Given the description of an element on the screen output the (x, y) to click on. 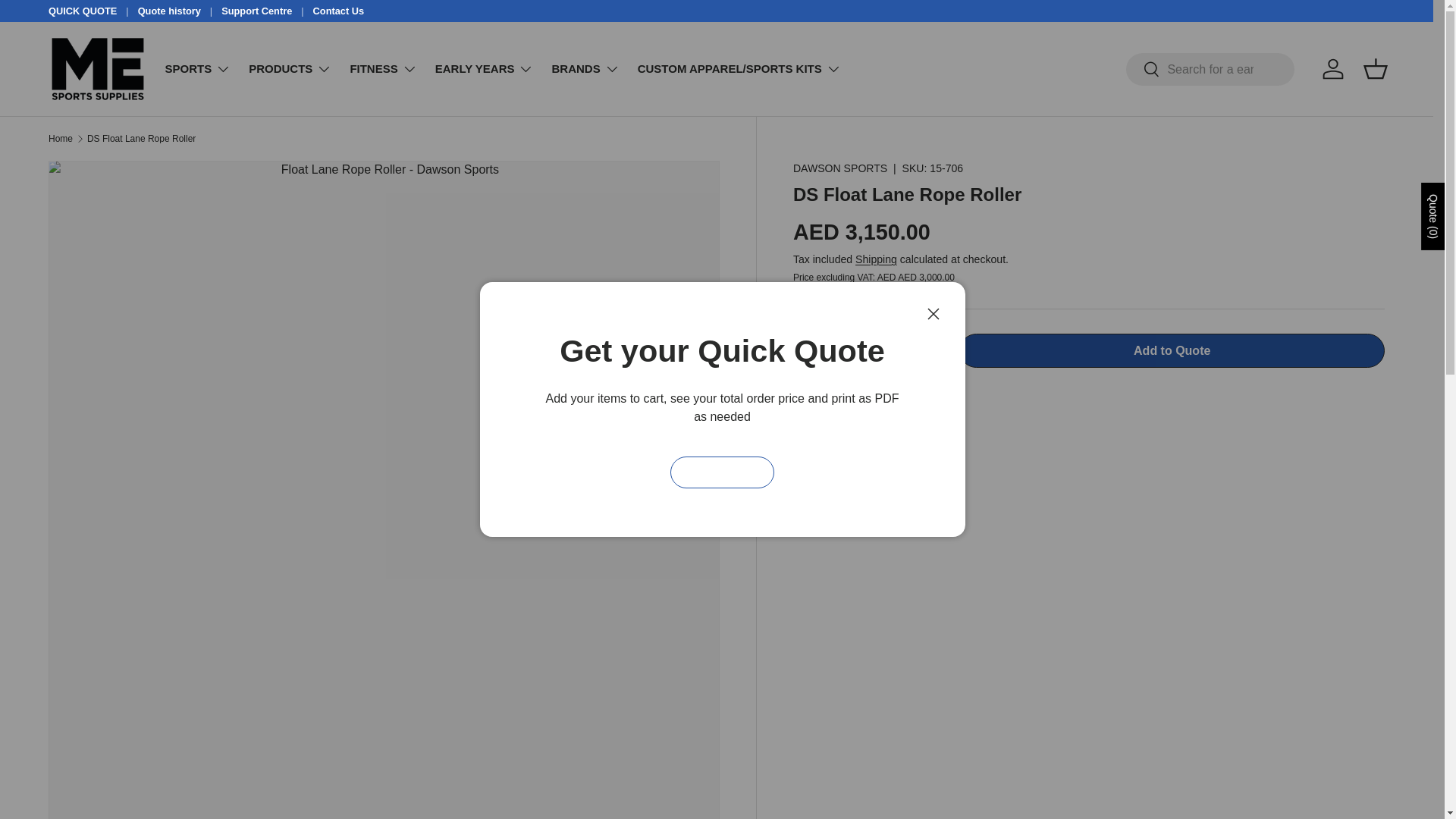
Contact Us (339, 11)
QUICK QUOTE (93, 11)
Log in (1332, 68)
Quote history (180, 11)
Search (1142, 69)
SPORTS (198, 69)
Basket (1374, 68)
1 (870, 350)
Support Centre (267, 11)
Skip to content (68, 21)
